Given the description of an element on the screen output the (x, y) to click on. 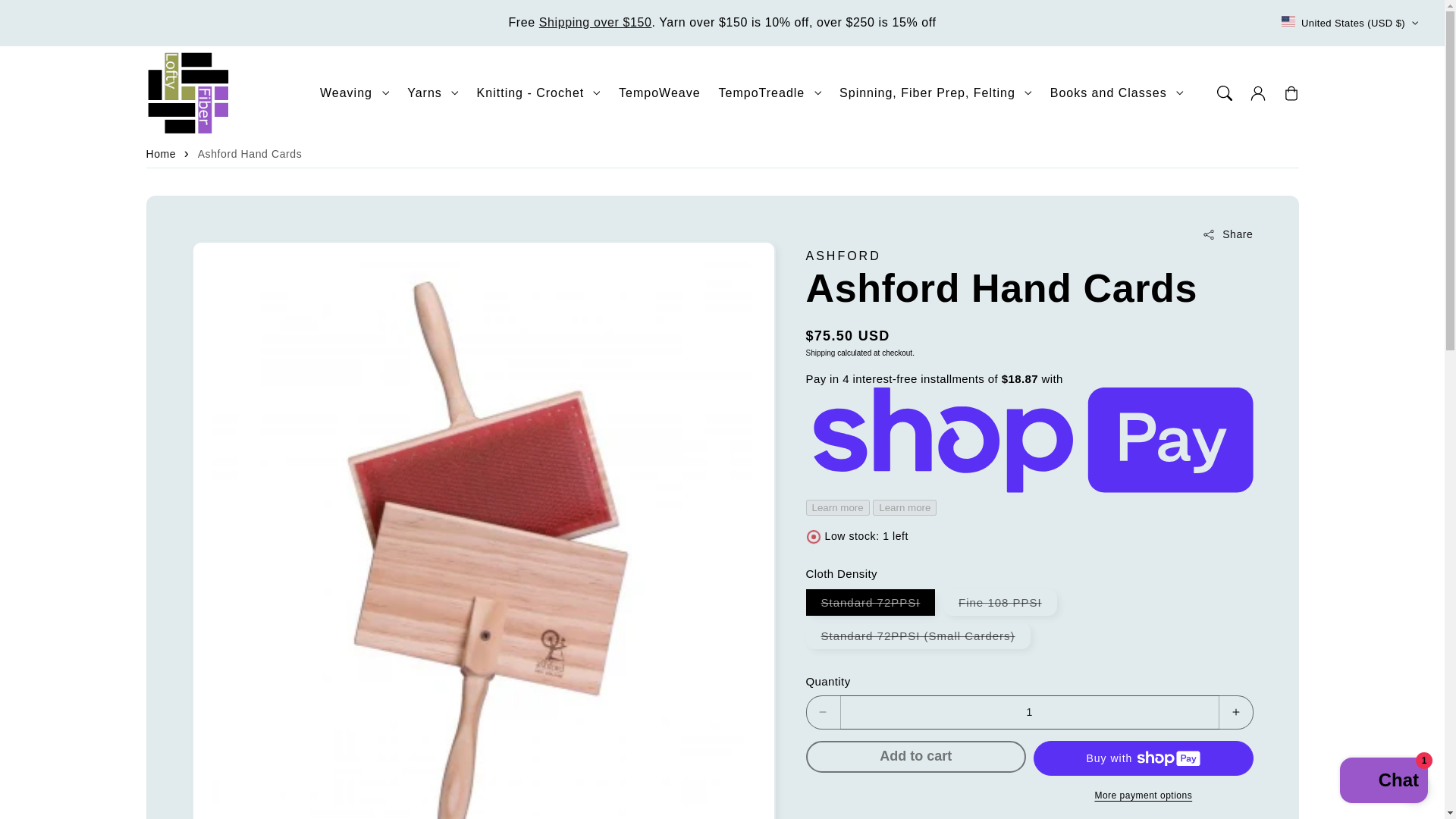
Shopify online store chat (1383, 781)
Shipping Policy (595, 21)
Skip to content (45, 15)
Home (160, 155)
1 (1030, 712)
